Given the description of an element on the screen output the (x, y) to click on. 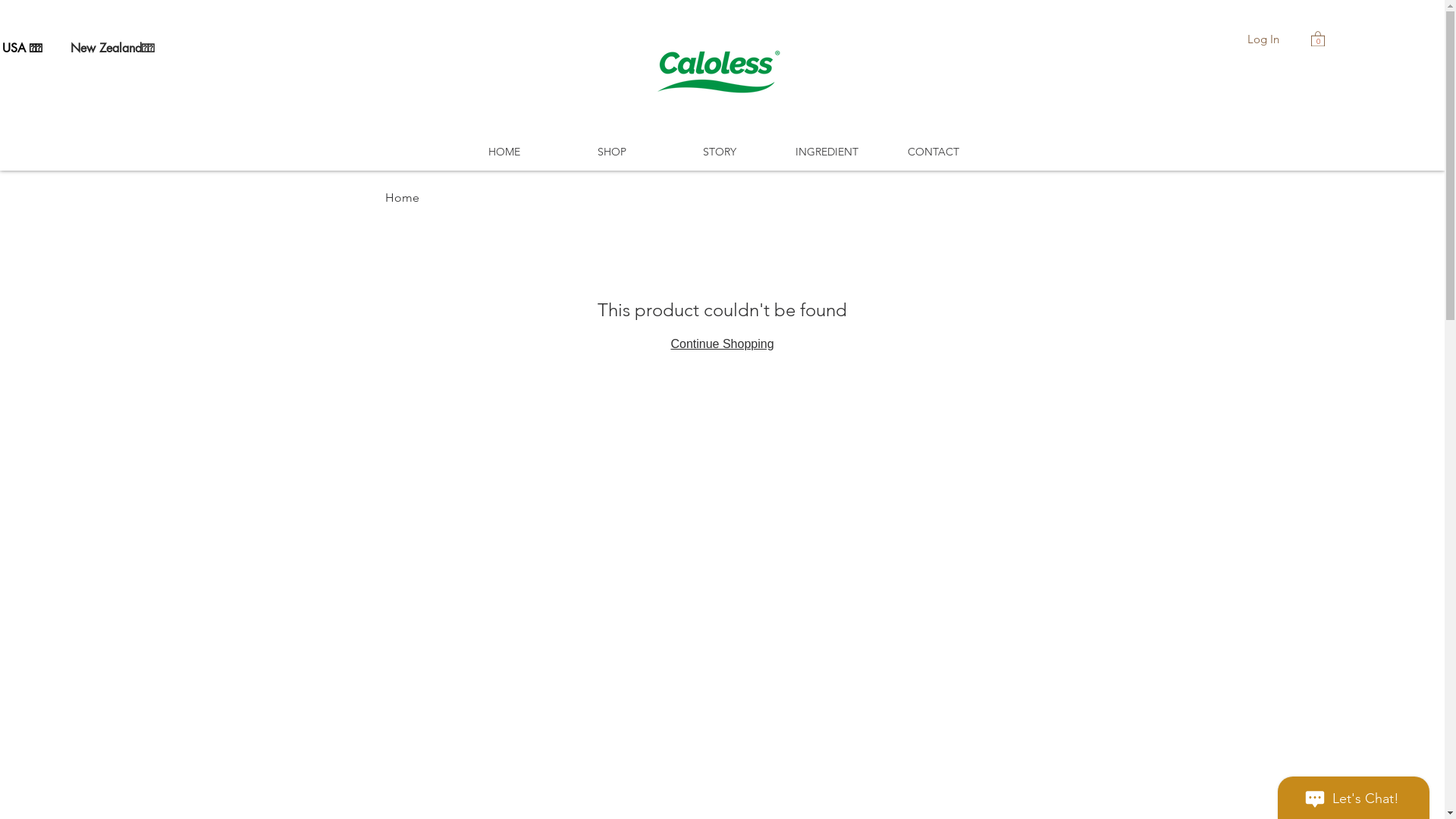
caloless (1).png Element type: hover (717, 69)
Home Element type: text (402, 197)
0 Element type: text (1317, 38)
INGREDIENT Element type: text (826, 151)
Continue Shopping Element type: text (721, 343)
HOME Element type: text (504, 151)
CONTACT Element type: text (932, 151)
STORY Element type: text (719, 151)
Log In Element type: text (1262, 37)
SHOP Element type: text (611, 151)
